Given the description of an element on the screen output the (x, y) to click on. 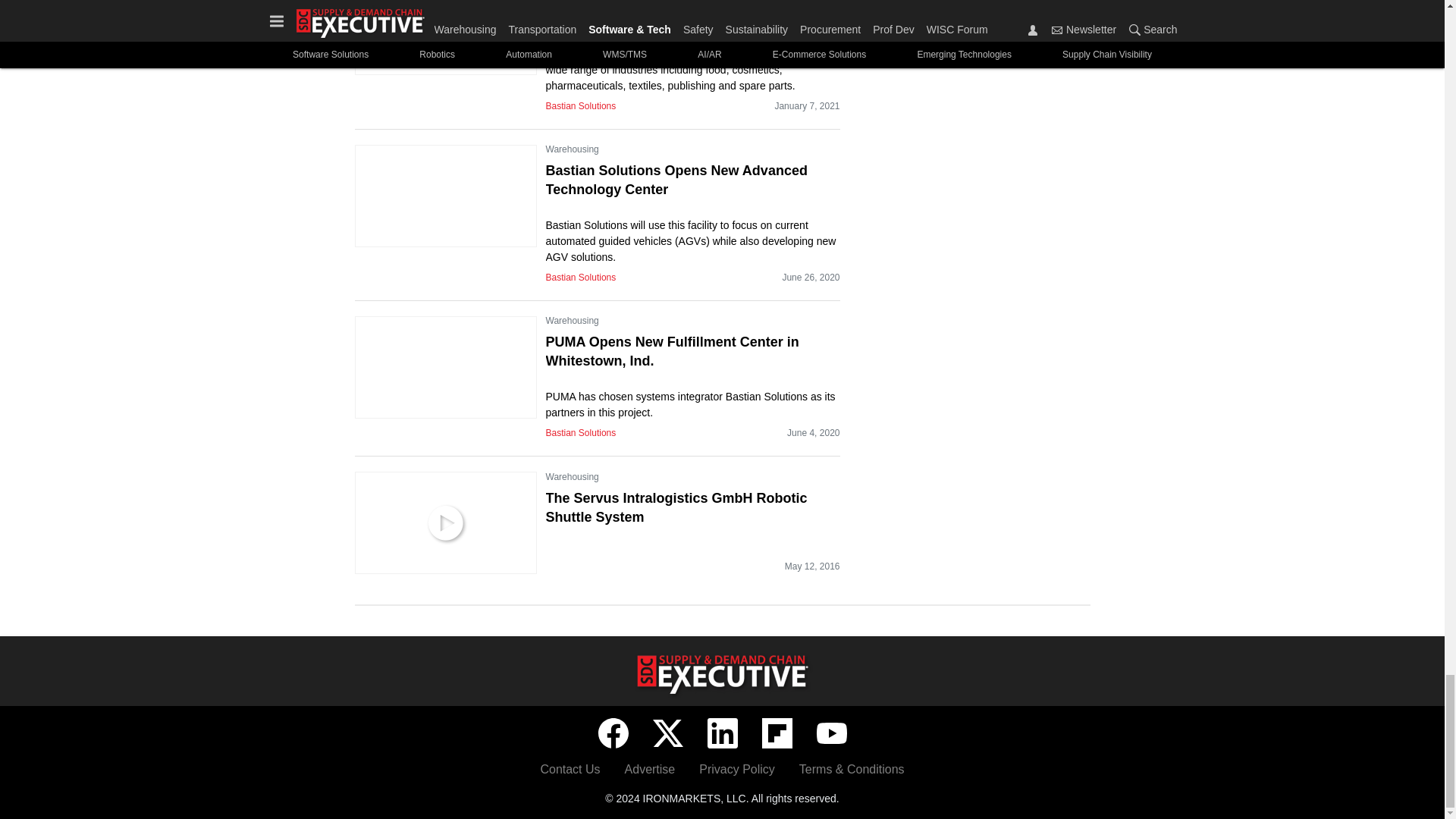
Facebook icon (611, 733)
Twitter X icon (667, 733)
LinkedIn icon (721, 733)
Flipboard icon (776, 733)
YouTube icon (830, 733)
